Given the description of an element on the screen output the (x, y) to click on. 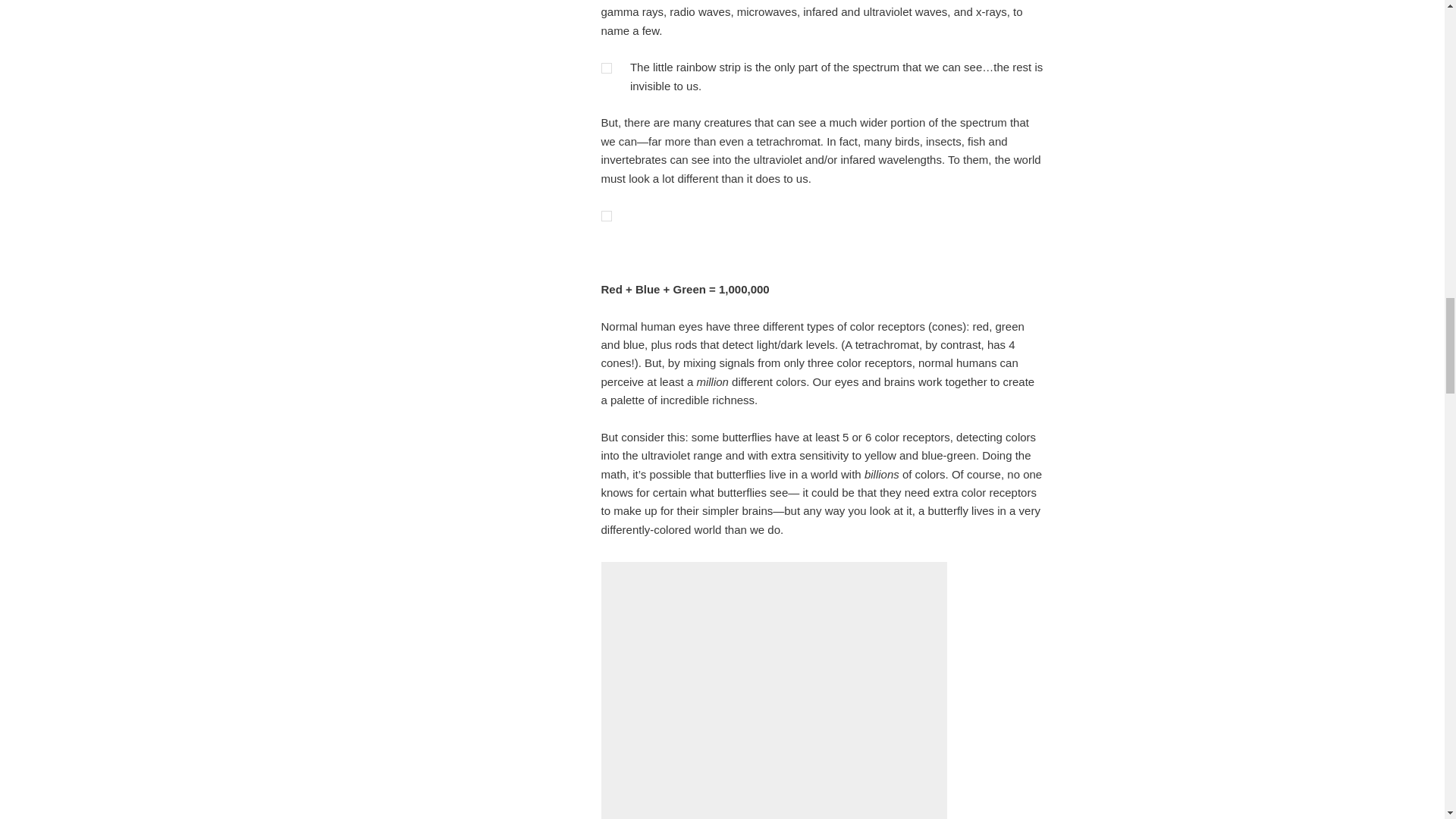
rainbowplain2 (605, 215)
tigerswallowtail (774, 693)
visible spectrum (605, 68)
